Given the description of an element on the screen output the (x, y) to click on. 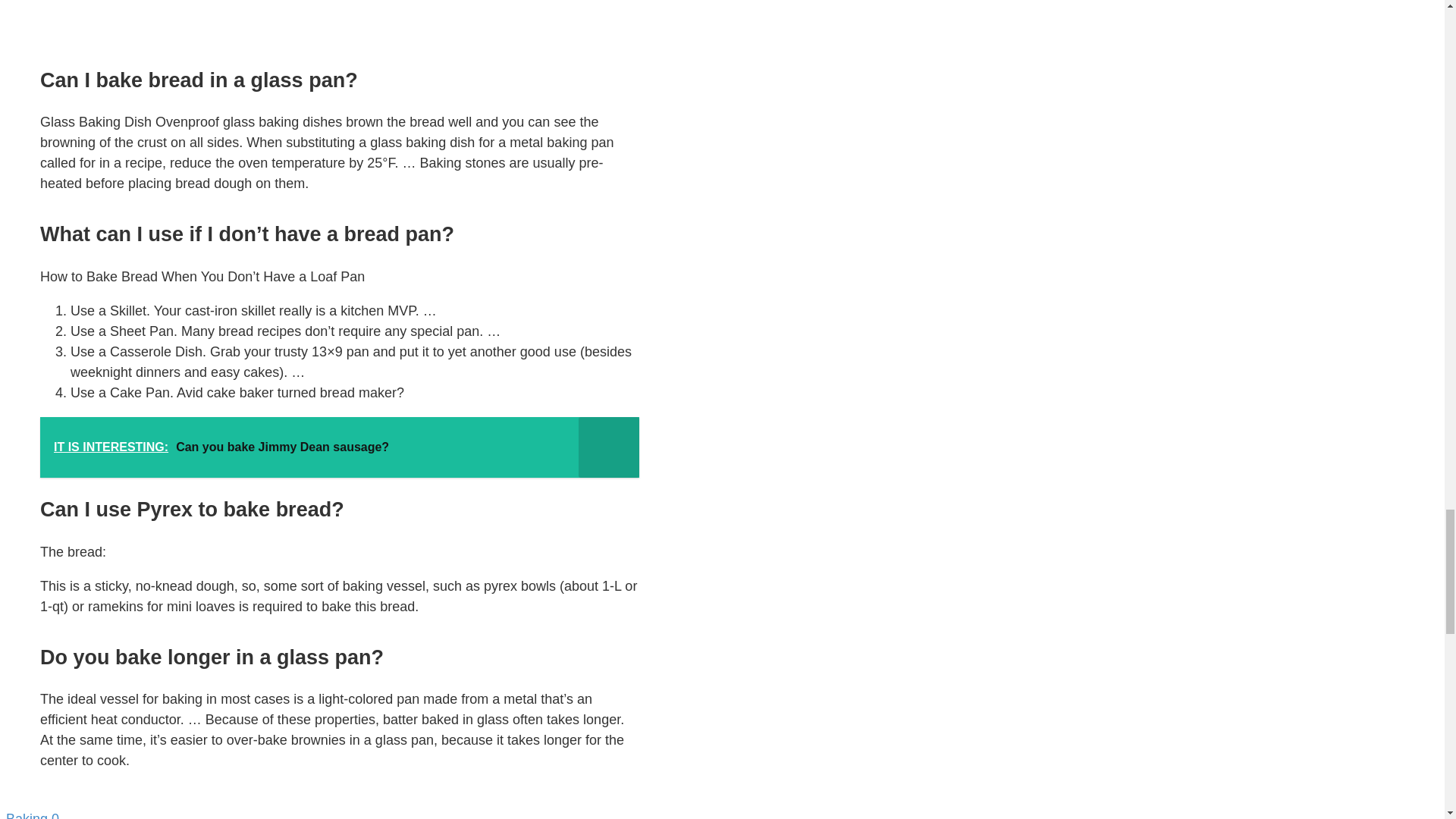
Comments (53, 815)
IT IS INTERESTING:  Can you bake Jimmy Dean sausage? (339, 446)
Baking 0 (322, 814)
